Given the description of an element on the screen output the (x, y) to click on. 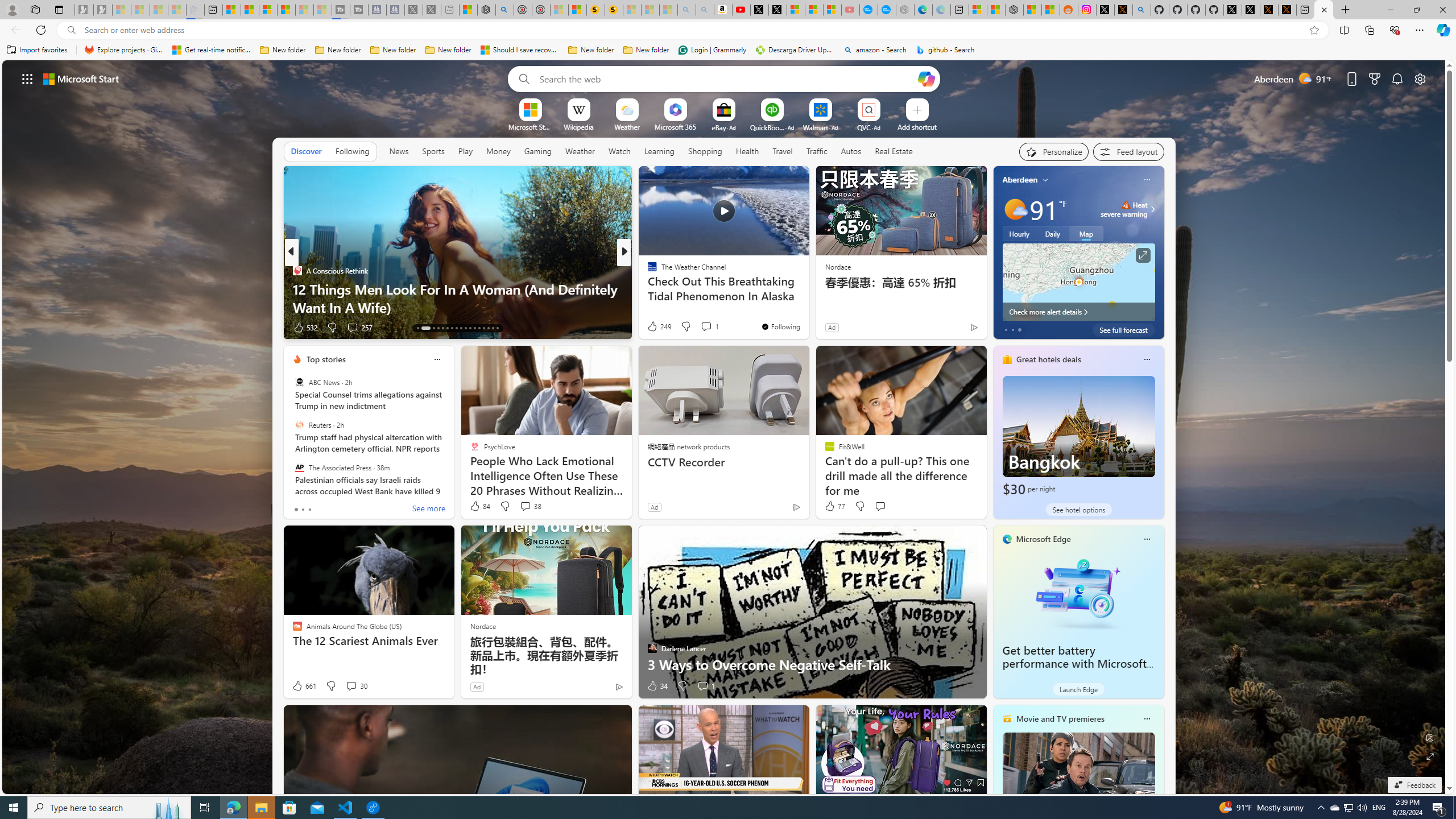
Weather (580, 151)
AutomationID: tab-20 (456, 328)
View comments 8 Comment (702, 327)
Feed settings (1128, 151)
Bangkok (1077, 436)
Descarga Driver Updater (794, 49)
Overview (268, 9)
FinanceBuzz (647, 270)
Nordace - Nordace has arrived Hong Kong - Sleeping (904, 9)
Click to see more information (1142, 255)
View comments 2 Comment (697, 327)
poe - Search (504, 9)
